Given the description of an element on the screen output the (x, y) to click on. 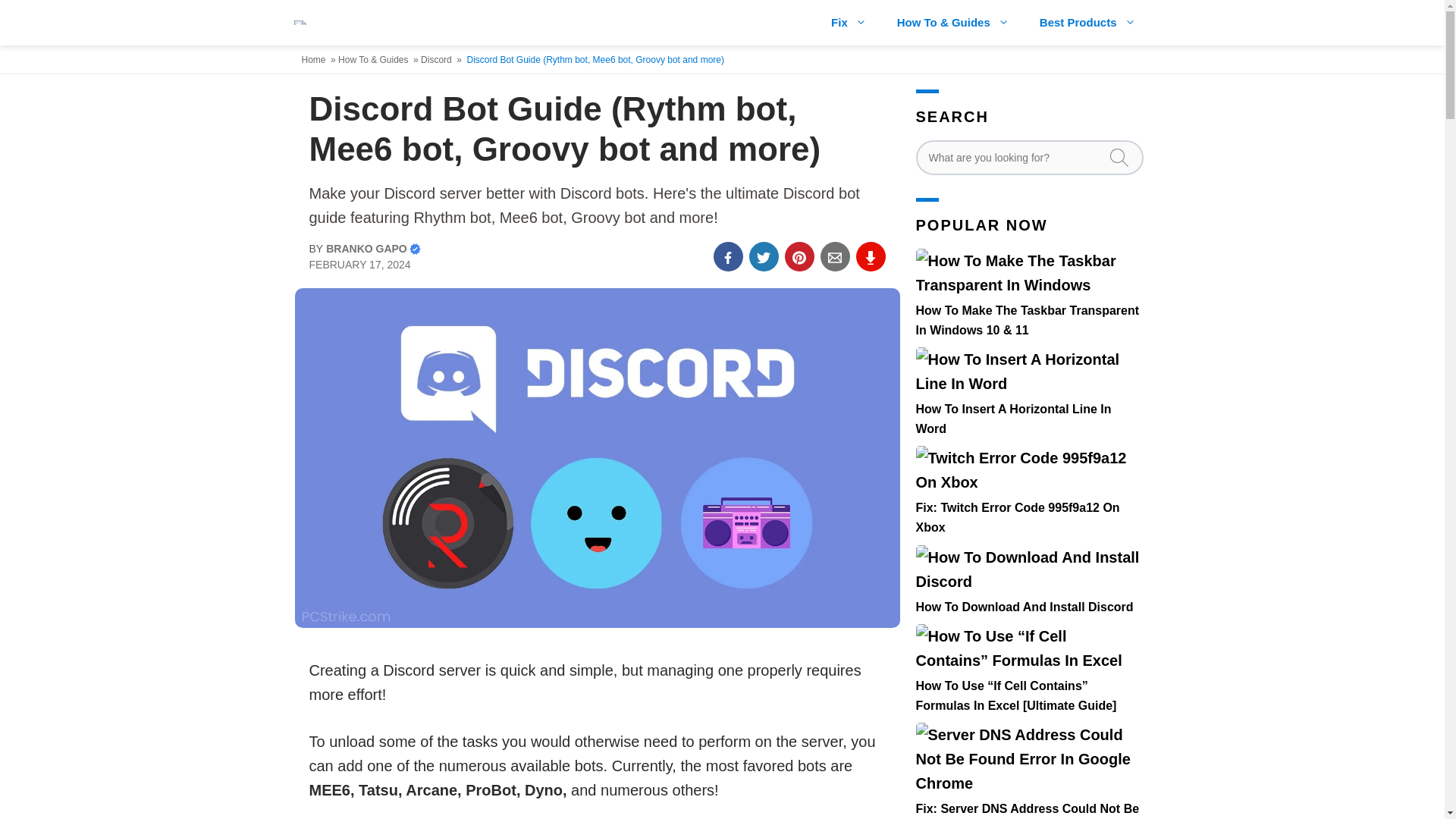
Discord (437, 59)
Home (315, 59)
Best Products (1088, 22)
Download PDF (870, 256)
Fix (848, 22)
Search for: (1028, 157)
PC Strike (306, 22)
